Given the description of an element on the screen output the (x, y) to click on. 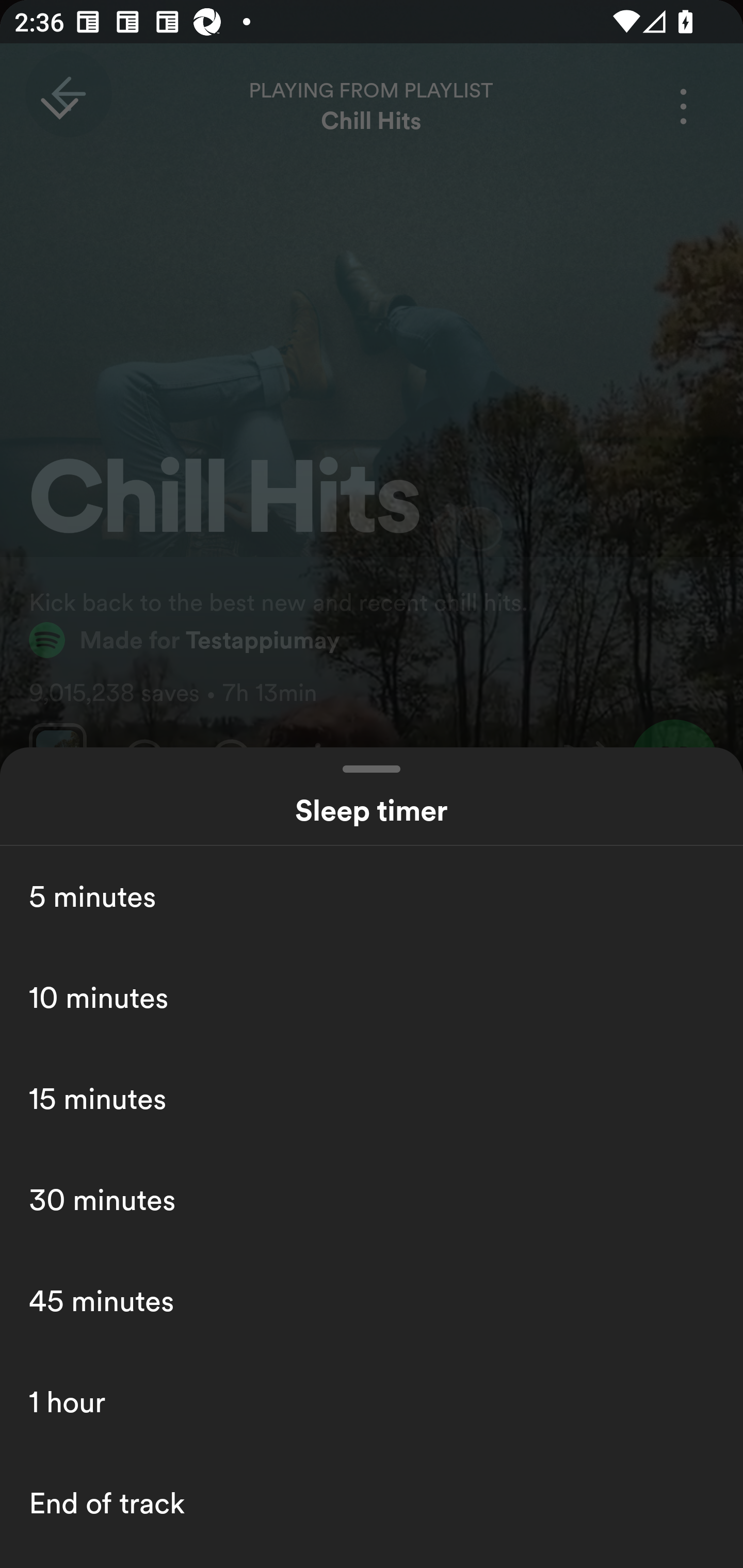
5 minutes (371, 896)
10 minutes (371, 997)
15 minutes (371, 1098)
30 minutes (371, 1199)
45 minutes (371, 1300)
1 hour (371, 1401)
End of track (371, 1502)
